Given the description of an element on the screen output the (x, y) to click on. 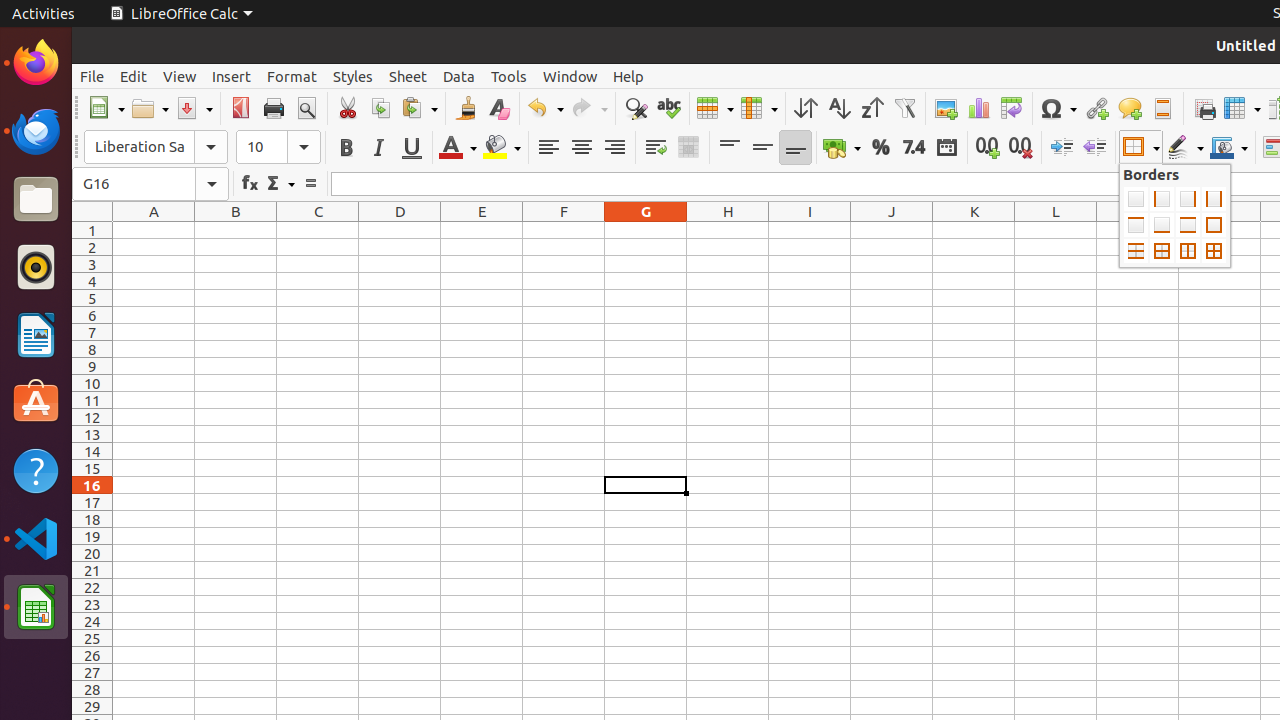
I1 Element type: table-cell (810, 230)
Italic Element type: toggle-button (378, 147)
Center Vertically Element type: push-button (762, 147)
LibreOffice Calc Element type: push-button (36, 607)
PDF Element type: push-button (240, 108)
